Given the description of an element on the screen output the (x, y) to click on. 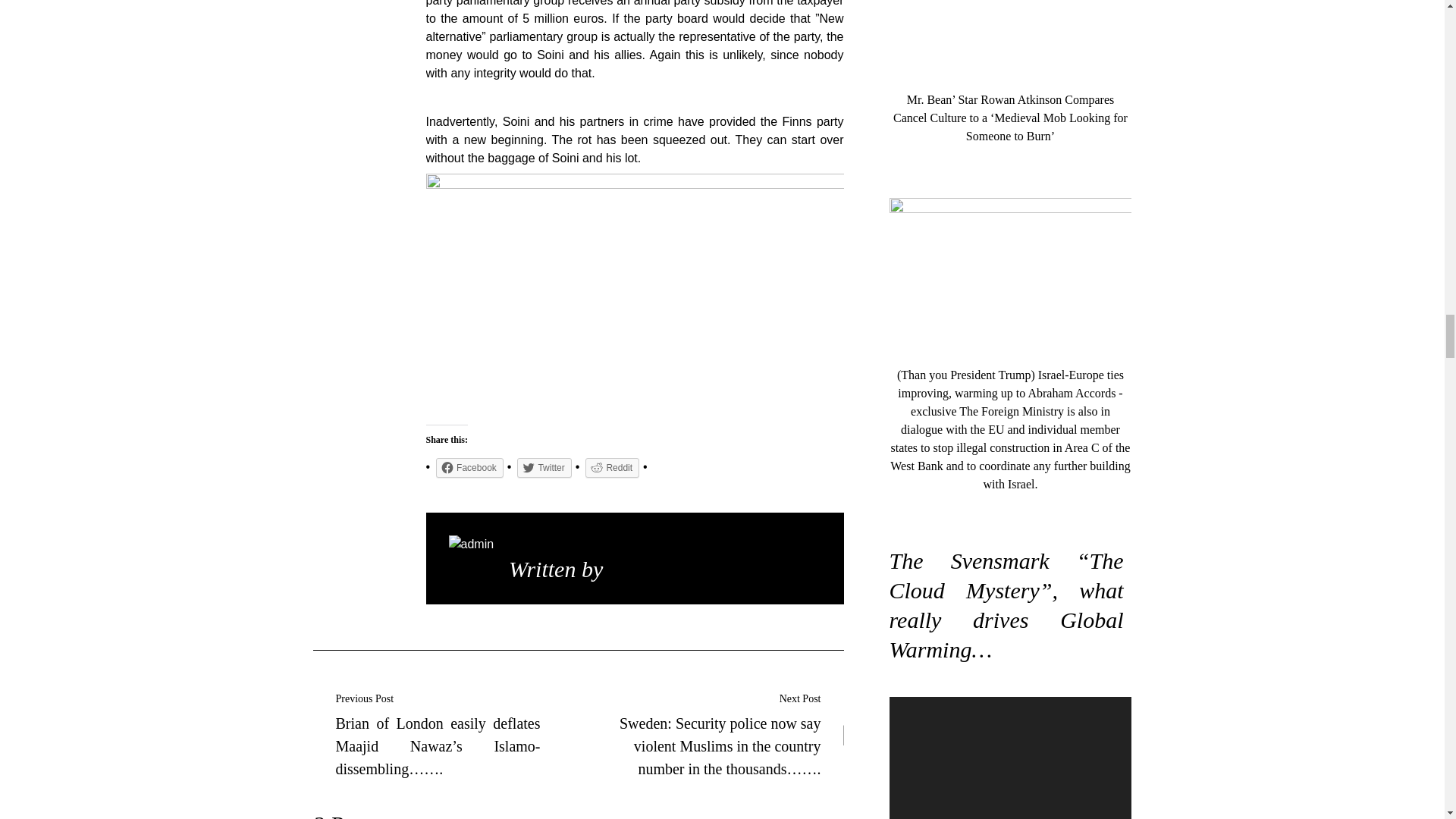
Click to share on Reddit (612, 467)
Reddit (612, 467)
Click to share on Facebook (469, 467)
KGS (630, 568)
Twitter (543, 467)
Click to share on Twitter (543, 467)
Facebook (469, 467)
Posts by KGS (630, 568)
